Given the description of an element on the screen output the (x, y) to click on. 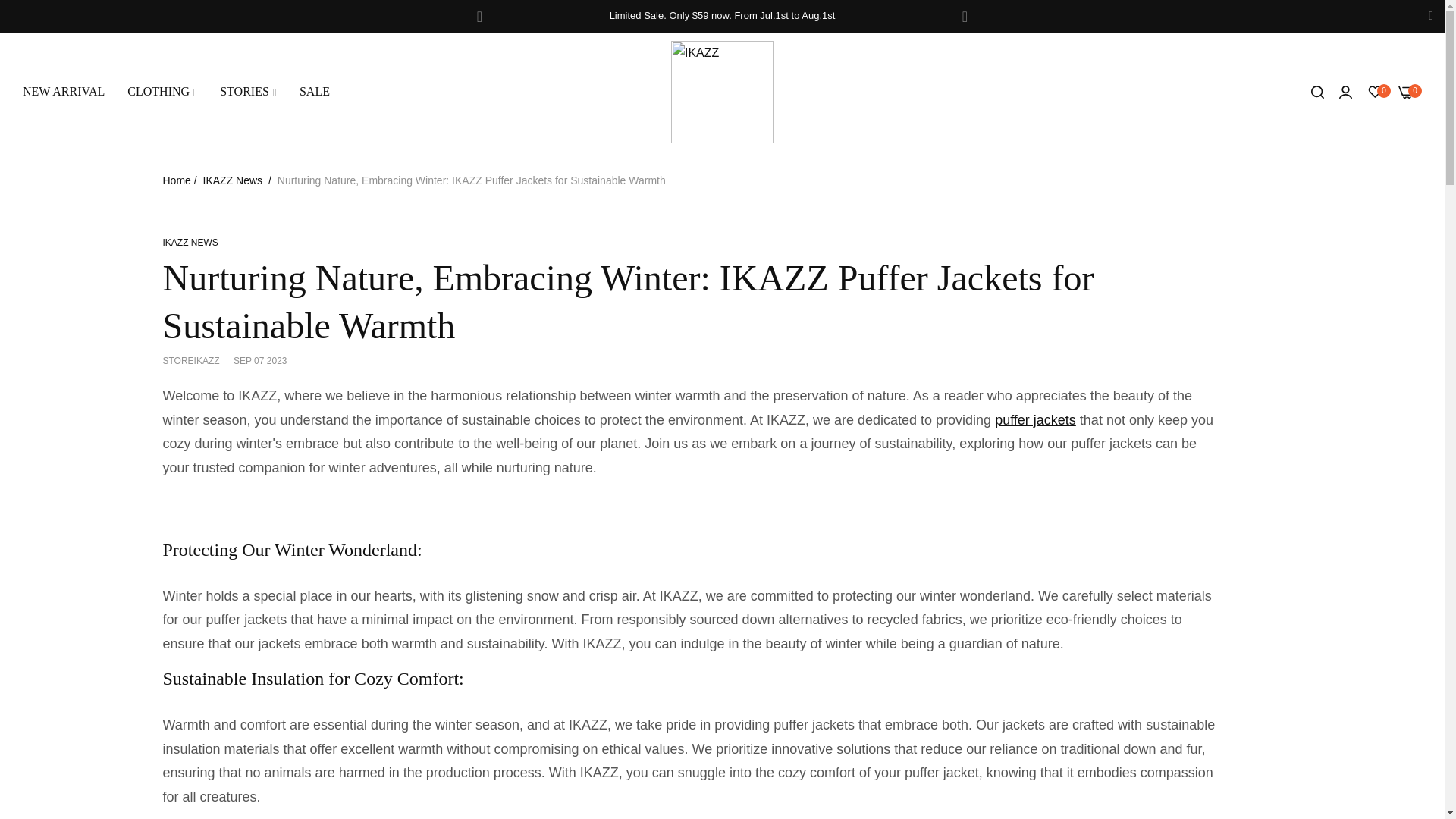
IKAZZ (722, 91)
CLOTHING (162, 91)
STORIES (248, 91)
NEW ARRIVAL (63, 91)
SALE (314, 91)
